Given the description of an element on the screen output the (x, y) to click on. 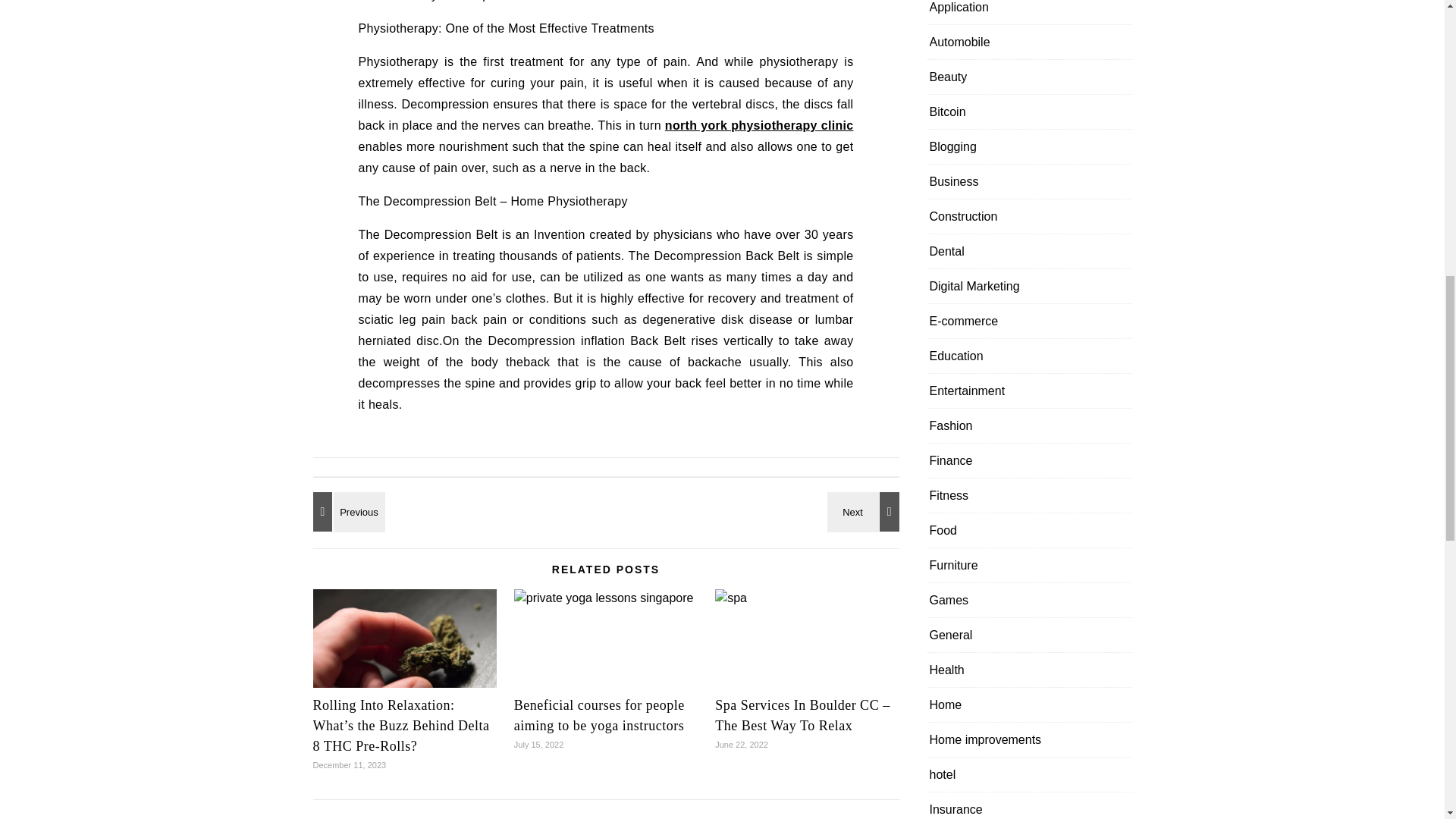
Smart Sanitizer Pro - The Fastest Method For Germ Free Skin (346, 511)
Automobile (960, 41)
Application (959, 12)
north york physiotherapy clinic (759, 124)
Digital Marketing (975, 286)
Construction (963, 216)
Blogging (953, 146)
Business (954, 181)
E-commerce (964, 320)
Grab theForeclosed Home You Want At the Lowest Price (865, 511)
Beneficial courses for people aiming to be yoga instructors (598, 715)
Beauty (949, 76)
Dental (946, 251)
Bitcoin (948, 111)
